Given the description of an element on the screen output the (x, y) to click on. 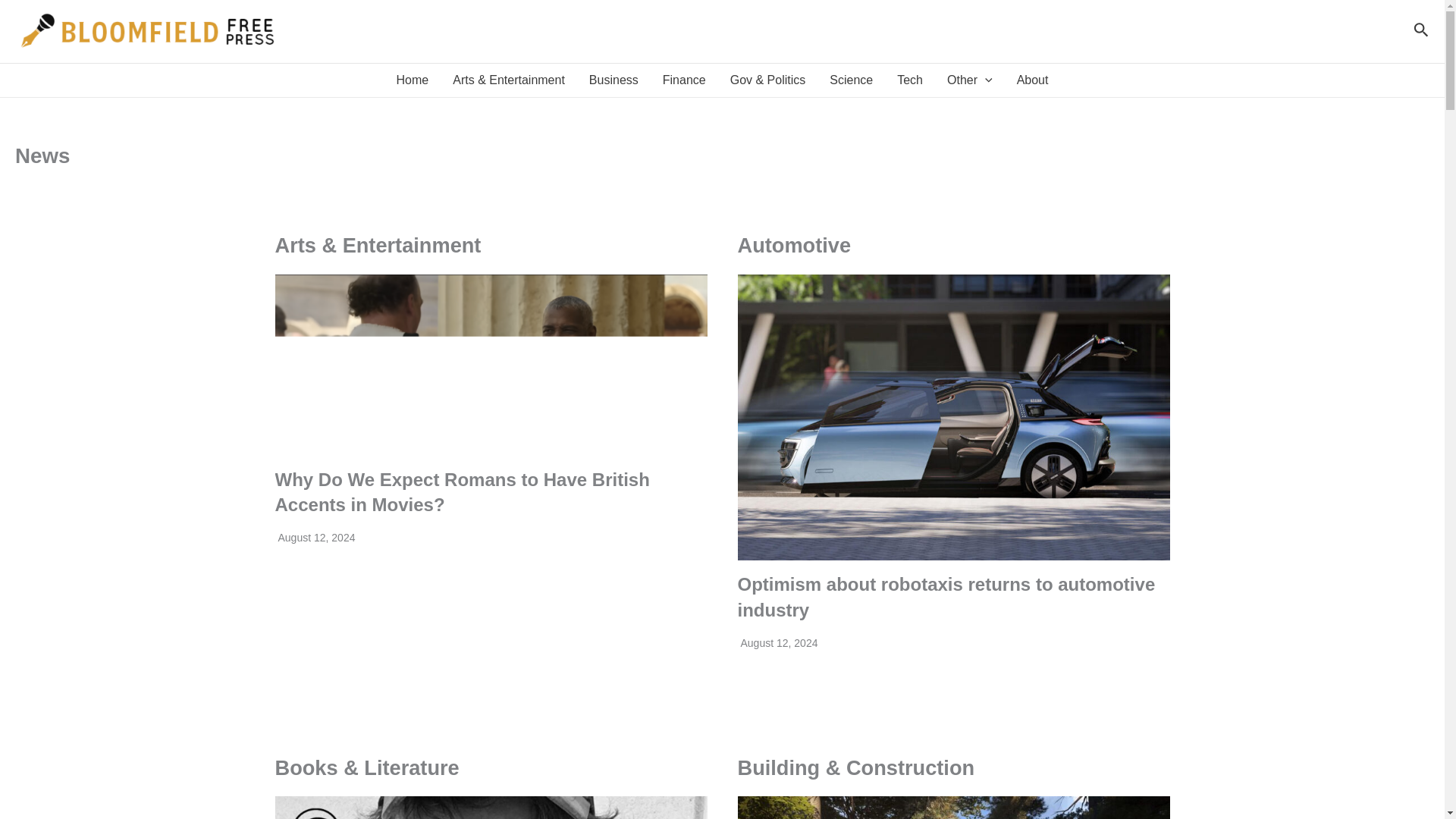
Business (613, 80)
Finance (683, 80)
About (1032, 80)
Other (969, 80)
Home (412, 80)
Tech (909, 80)
Science (850, 80)
